Given the description of an element on the screen output the (x, y) to click on. 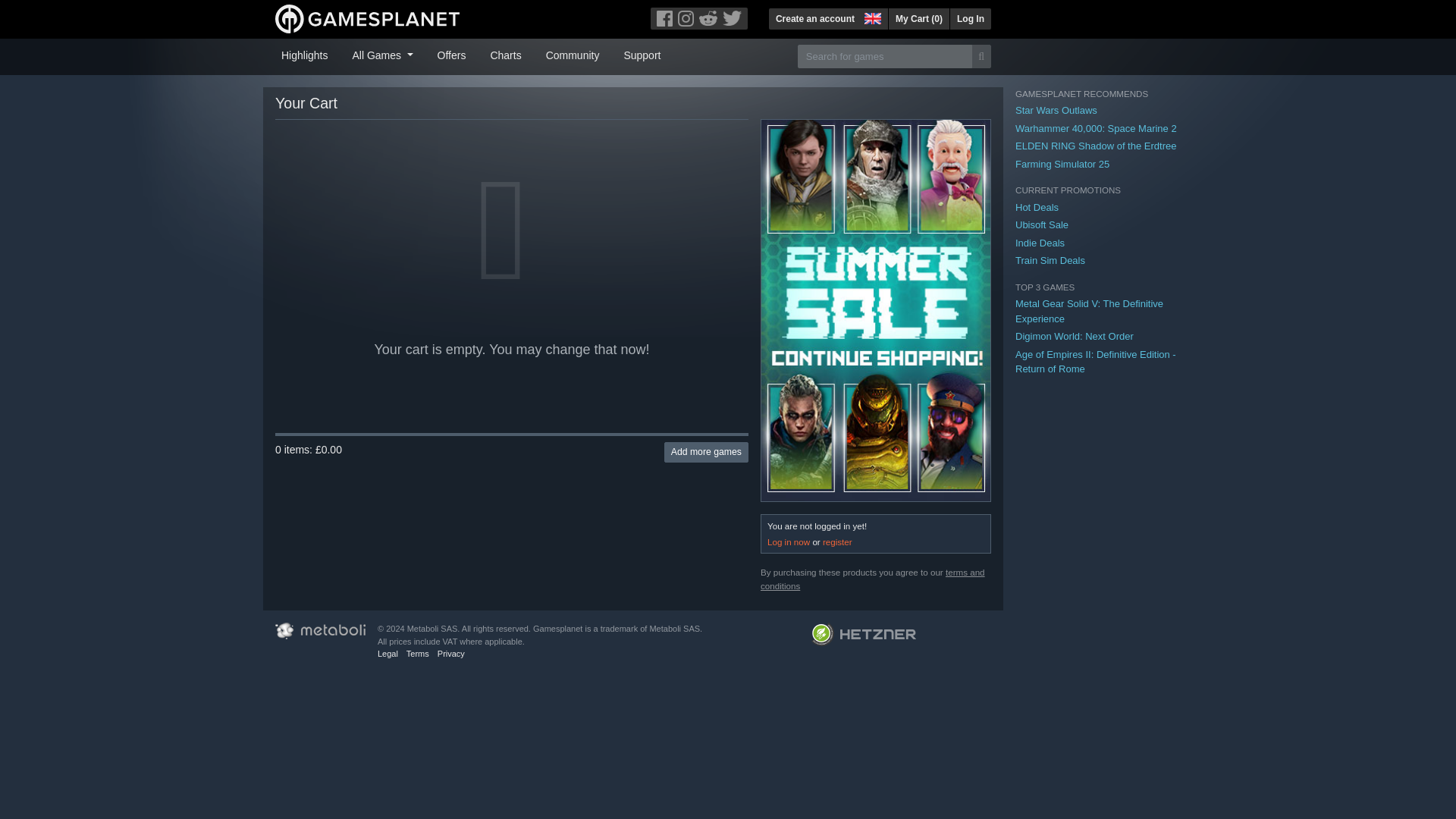
Create an account (815, 18)
Log In (970, 18)
All Games (382, 53)
Highlights (304, 53)
